Given the description of an element on the screen output the (x, y) to click on. 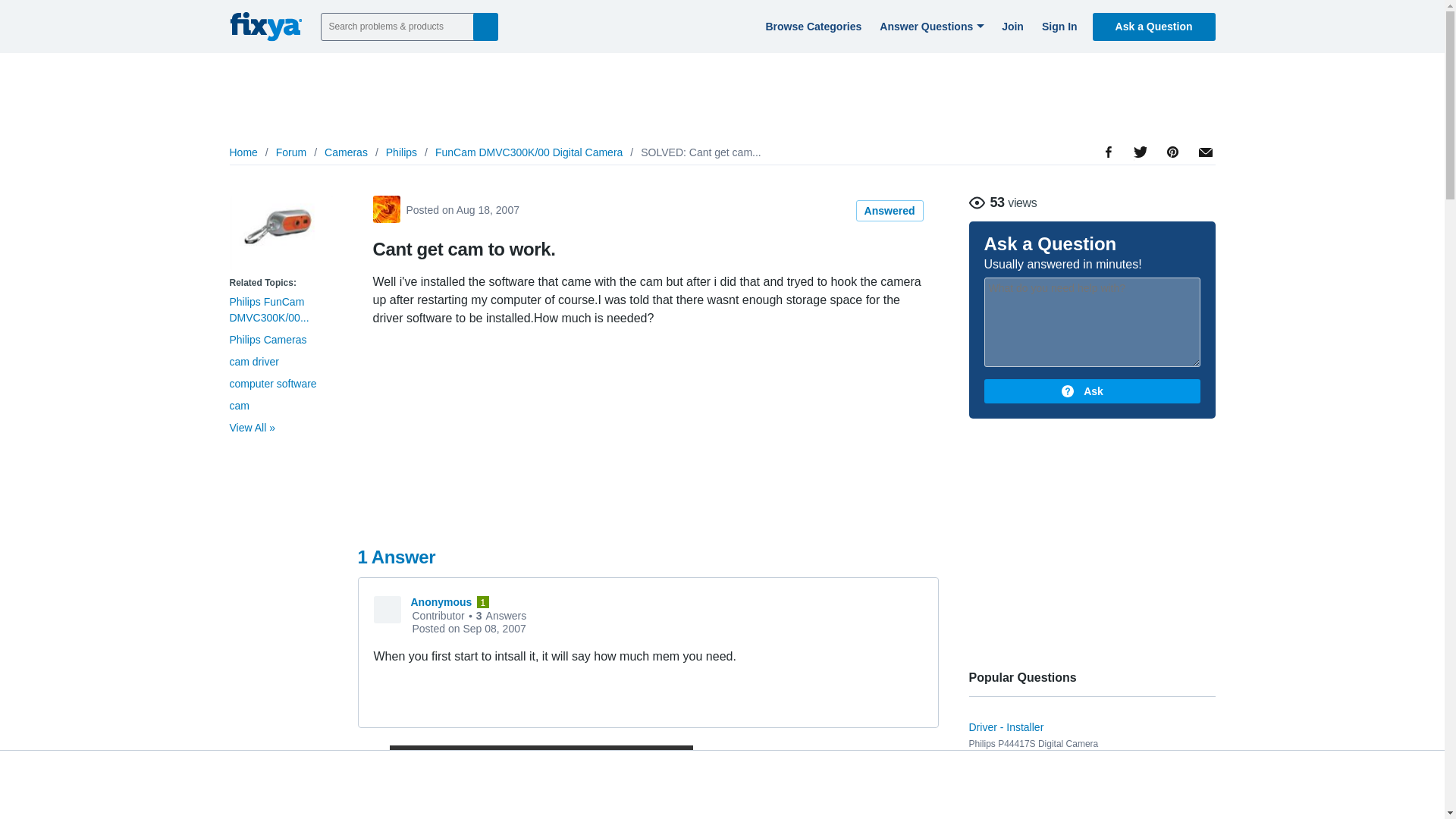
Forum (290, 152)
Answer Questions (929, 26)
Cameras (346, 152)
Browse Categories (810, 26)
Home (242, 152)
Search Fixya (485, 26)
Philips Cameras (266, 339)
cam driver (253, 361)
Search Fixya (485, 26)
Ask a Question (1154, 26)
Sign In (1056, 26)
computer software (271, 383)
Philips (400, 152)
Search Fixya (485, 26)
